Given the description of an element on the screen output the (x, y) to click on. 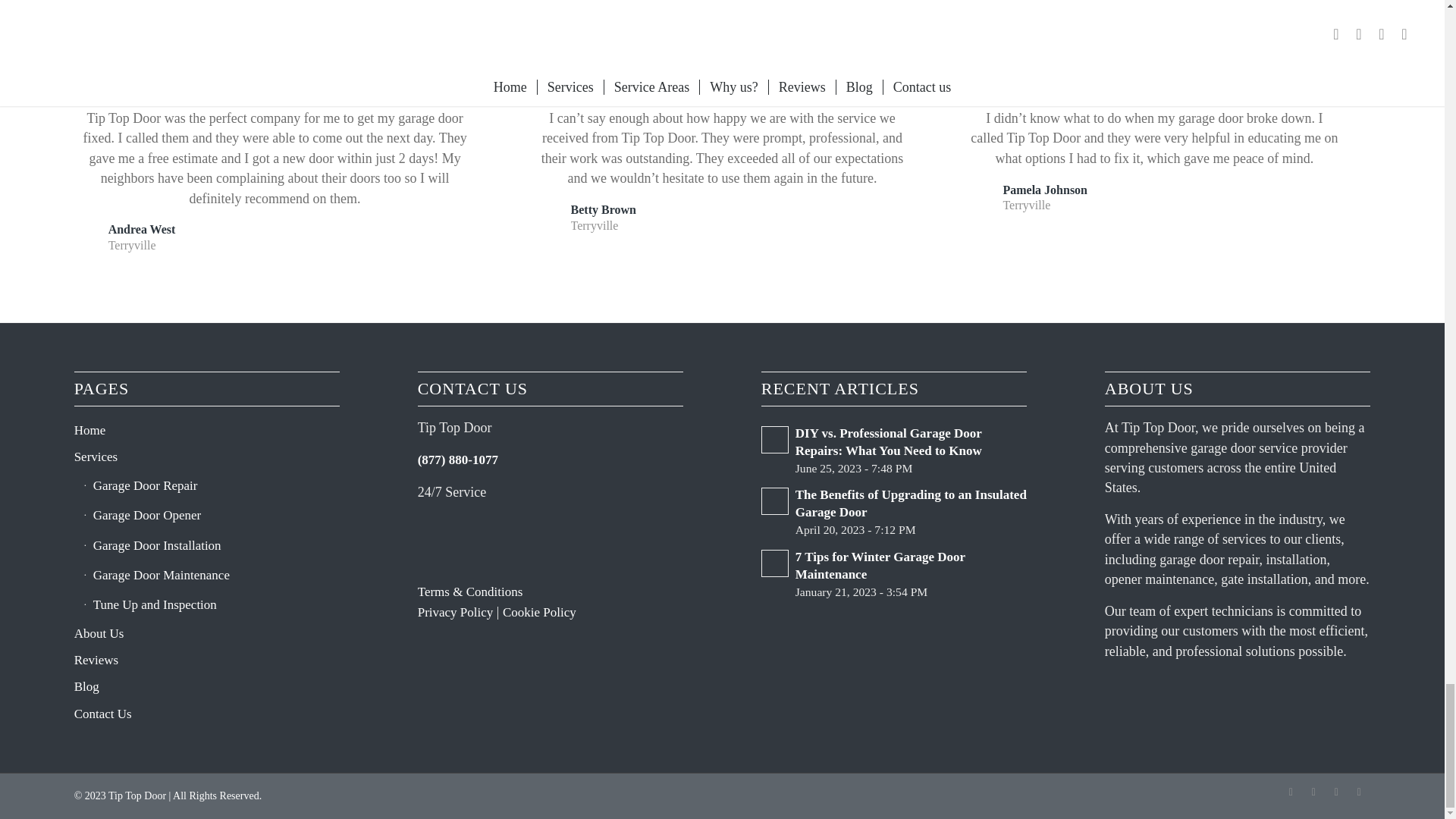
7 Tips for Winter Garage Door Maintenance (893, 573)
Facebook (1290, 792)
The Benefits of Upgrading to an Insulated Garage Door (893, 511)
LinkedIn (1312, 792)
